Given the description of an element on the screen output the (x, y) to click on. 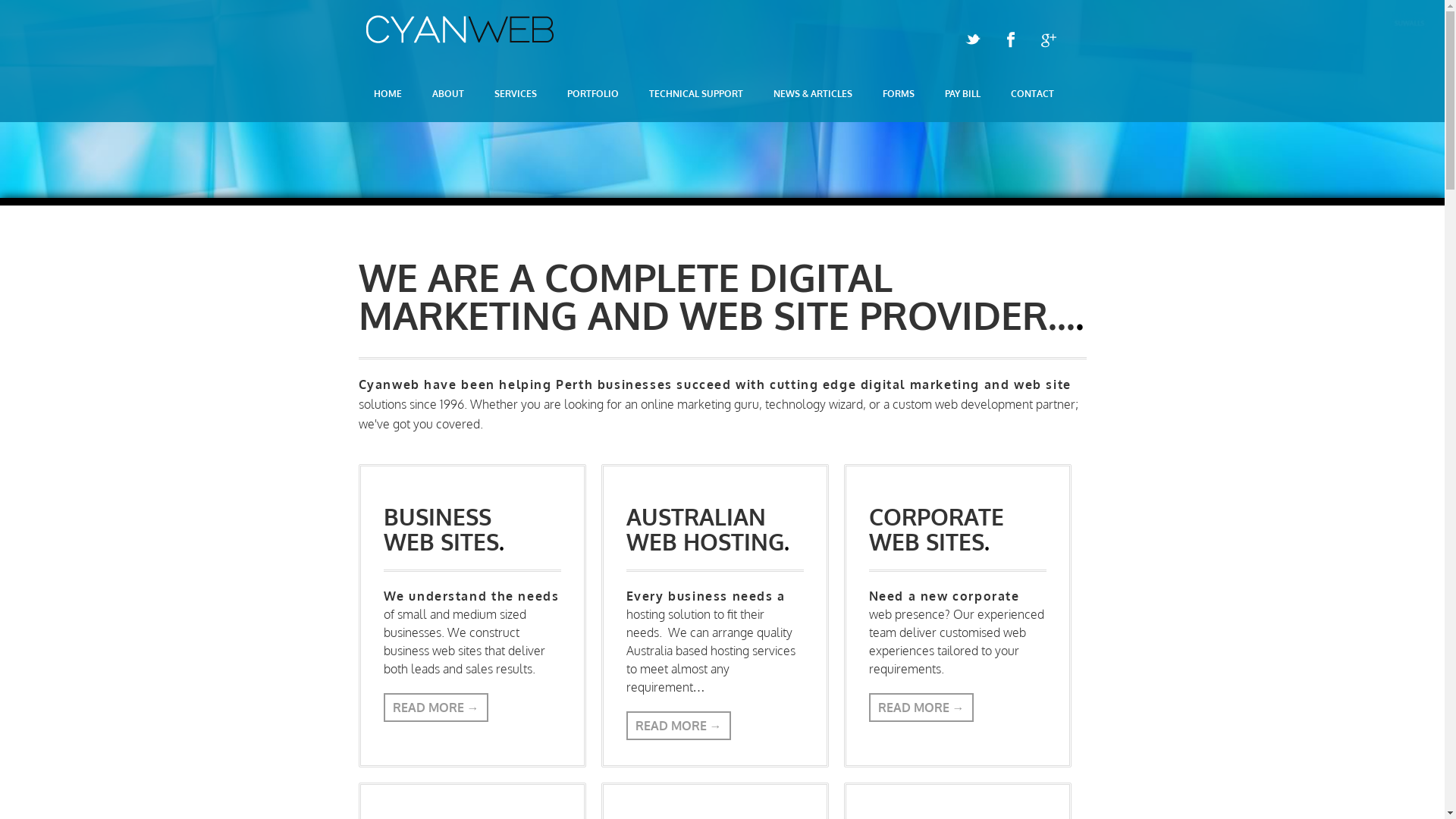
View Facebook Profile Element type: hover (1009, 40)
View Google + Profile Element type: hover (1047, 40)
ABOUT Element type: text (447, 93)
Cyanweb, Perth WA Element type: hover (458, 38)
NEWS & ARTICLES Element type: text (812, 93)
PAY BILL Element type: text (962, 93)
HOME Element type: text (386, 93)
TECHNICAL SUPPORT Element type: text (695, 93)
FORMS Element type: text (898, 93)
CONTACT Element type: text (1031, 93)
SERVICES Element type: text (515, 93)
View Twitter Profile Element type: hover (971, 40)
PORTFOLIO Element type: text (592, 93)
